Given the description of an element on the screen output the (x, y) to click on. 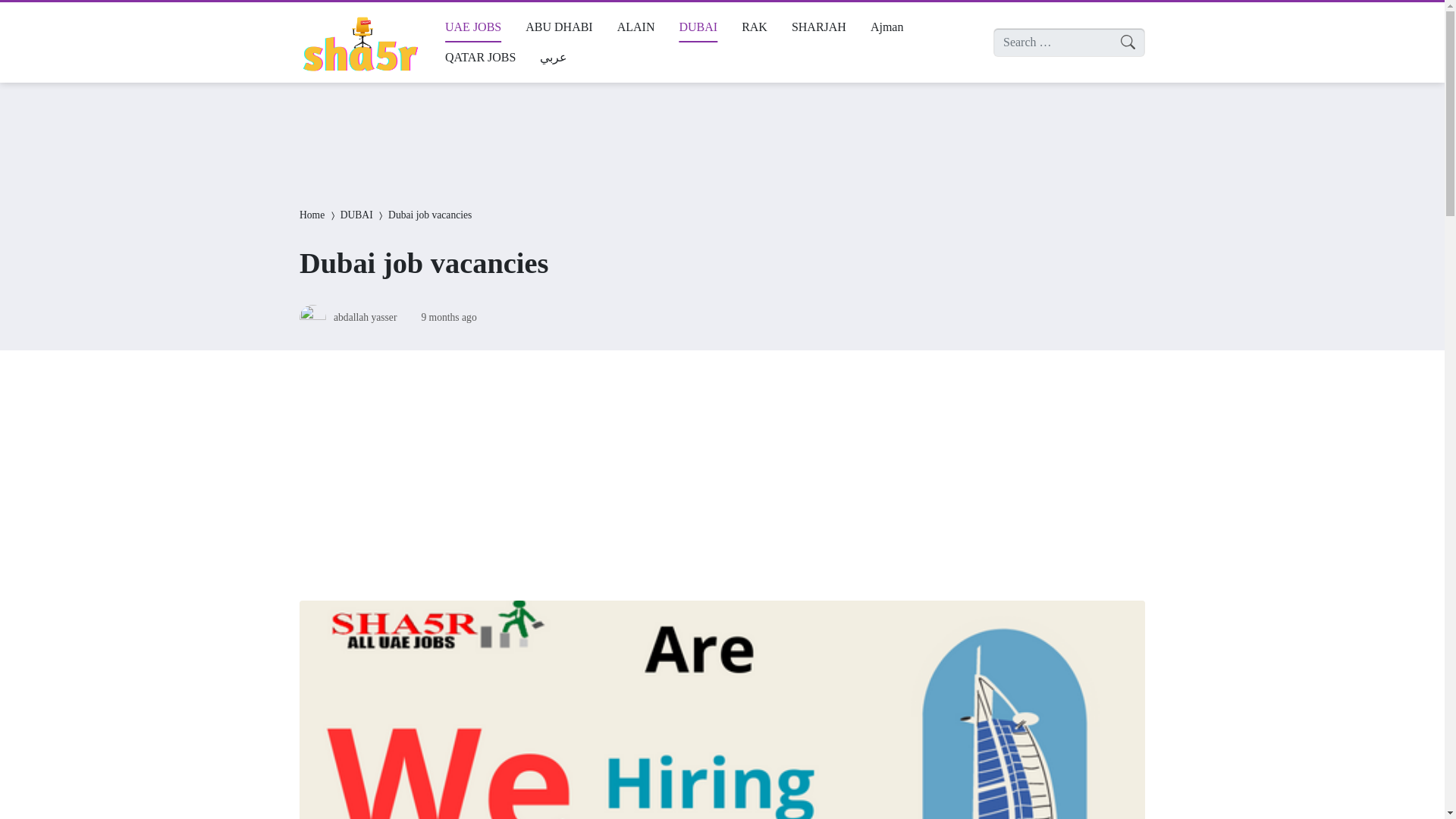
ABU DHABI (558, 27)
Ajman (887, 27)
SHARJAH (818, 27)
9 months ago (448, 317)
QATAR JOBS (479, 57)
Search (26, 14)
Show all posts by author (364, 317)
UAE JOBS (472, 27)
Home (311, 214)
sha5r (359, 42)
RAK (753, 27)
abdallah yasser (364, 317)
DUBAI (697, 27)
ALAIN (635, 27)
DUBAI (356, 214)
